Given the description of an element on the screen output the (x, y) to click on. 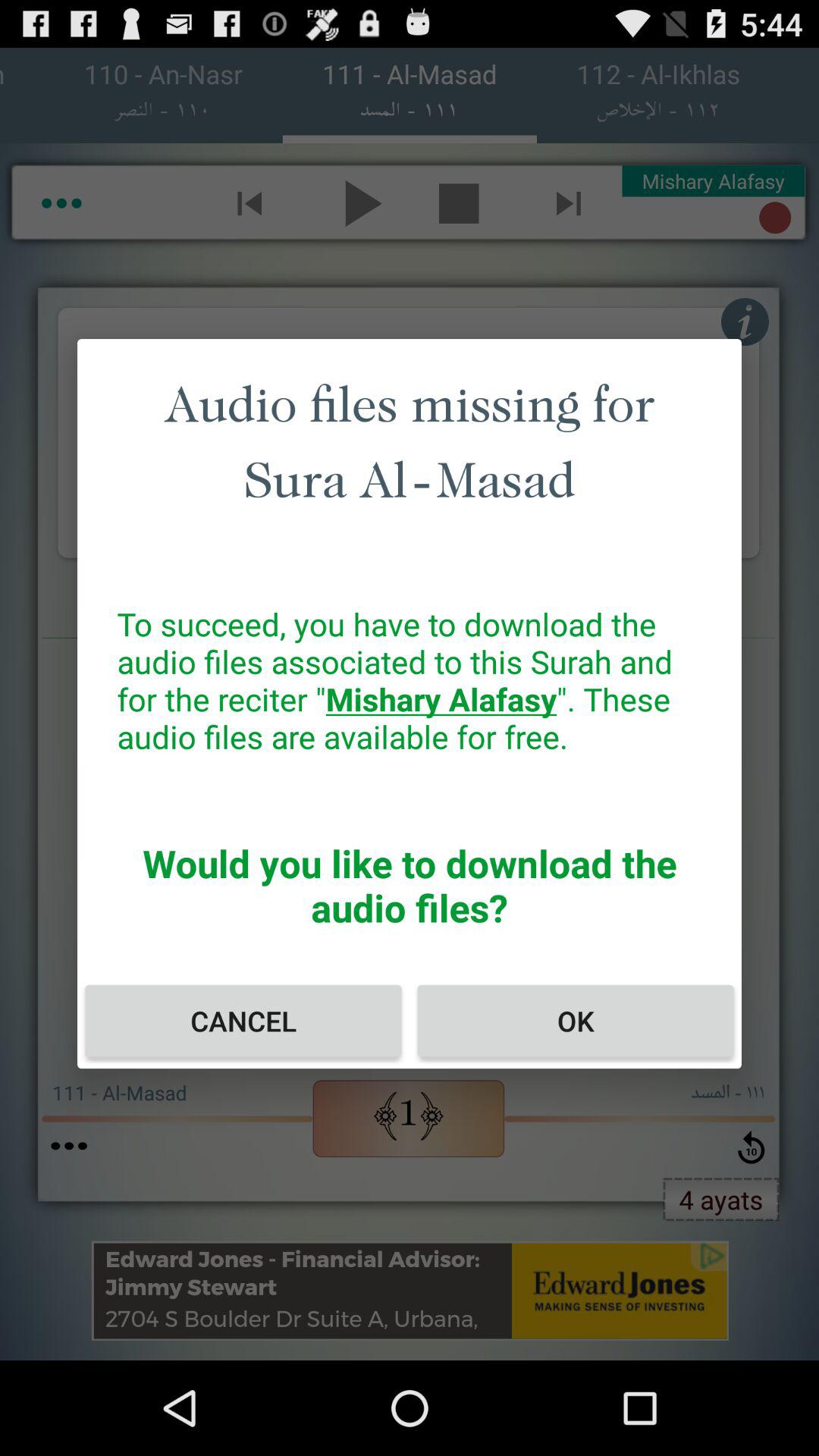
launch the item below the would you like item (575, 1020)
